Given the description of an element on the screen output the (x, y) to click on. 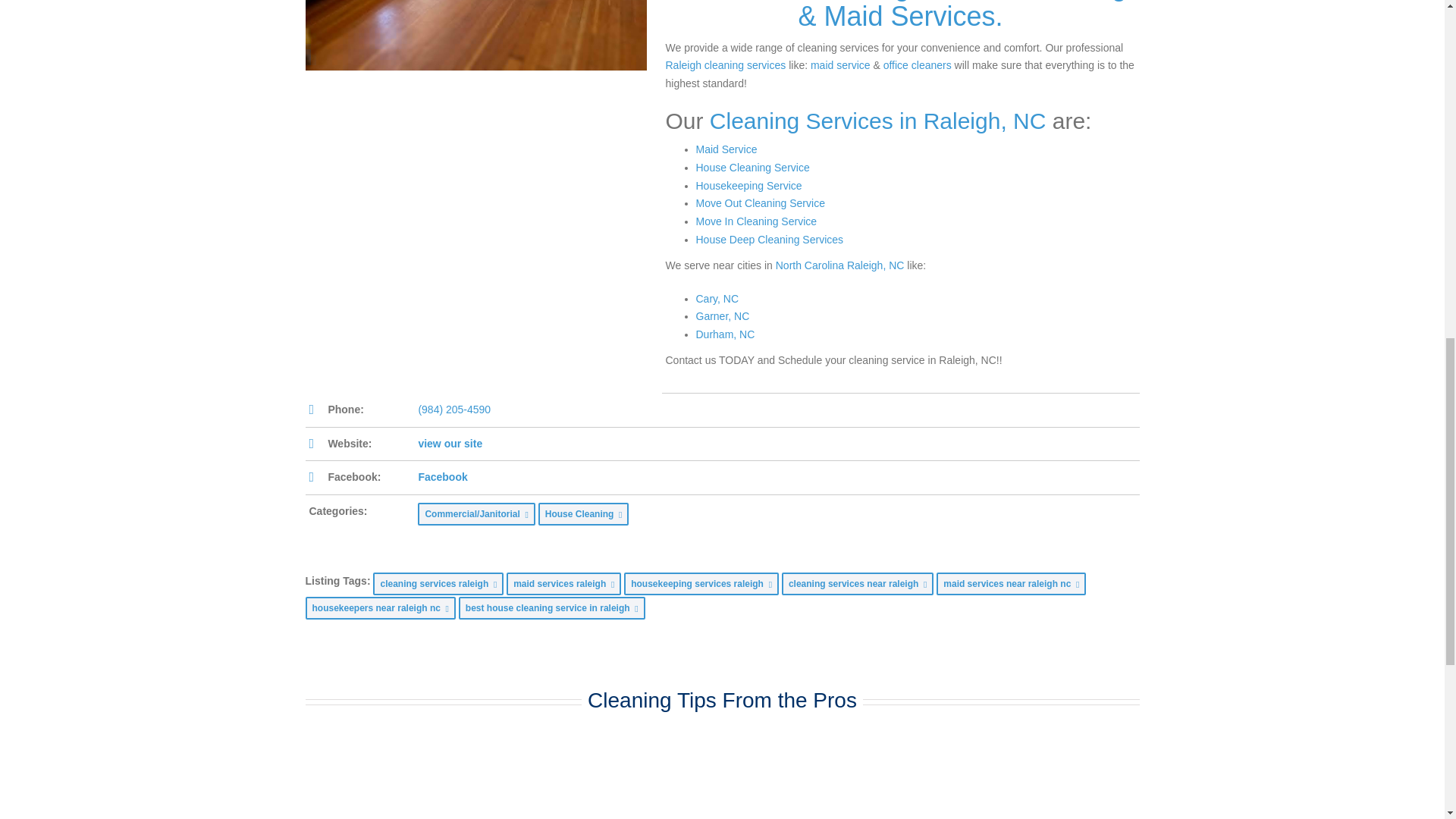
Housekeeping Service (748, 185)
Raleigh cleaning services (725, 64)
House Deep Cleaning Services (769, 239)
office cleaners (917, 64)
maid service (840, 64)
Cleaning Services in Raleigh, NC (878, 120)
House Cleaning Service (752, 167)
cleaning services raleigh (475, 35)
Maid Service (726, 149)
